Given the description of an element on the screen output the (x, y) to click on. 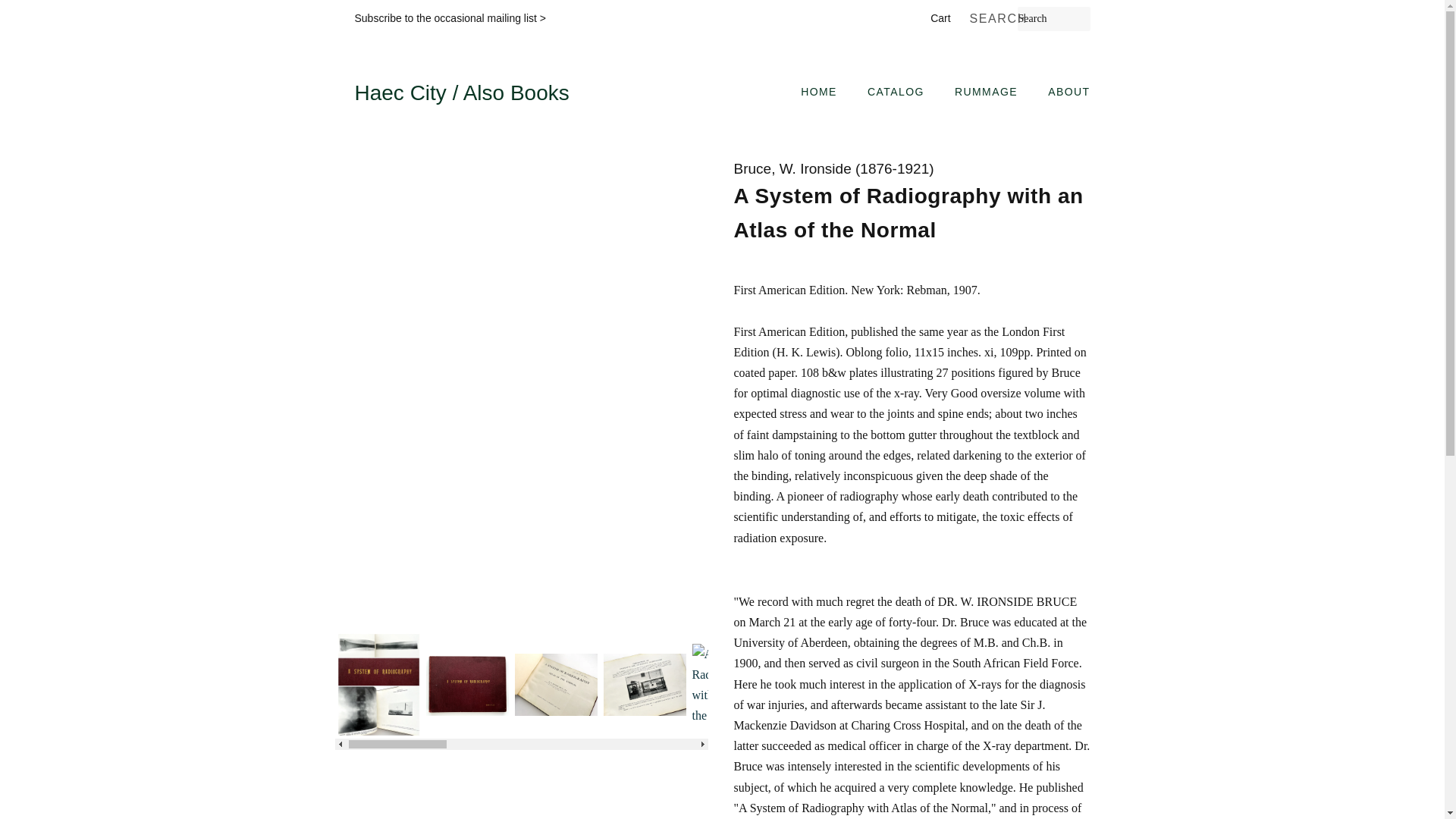
ABOUT (1062, 92)
CATALOG (897, 92)
Cart (940, 18)
SEARCH (993, 18)
HOME (825, 92)
RUMMAGE (987, 92)
